Given the description of an element on the screen output the (x, y) to click on. 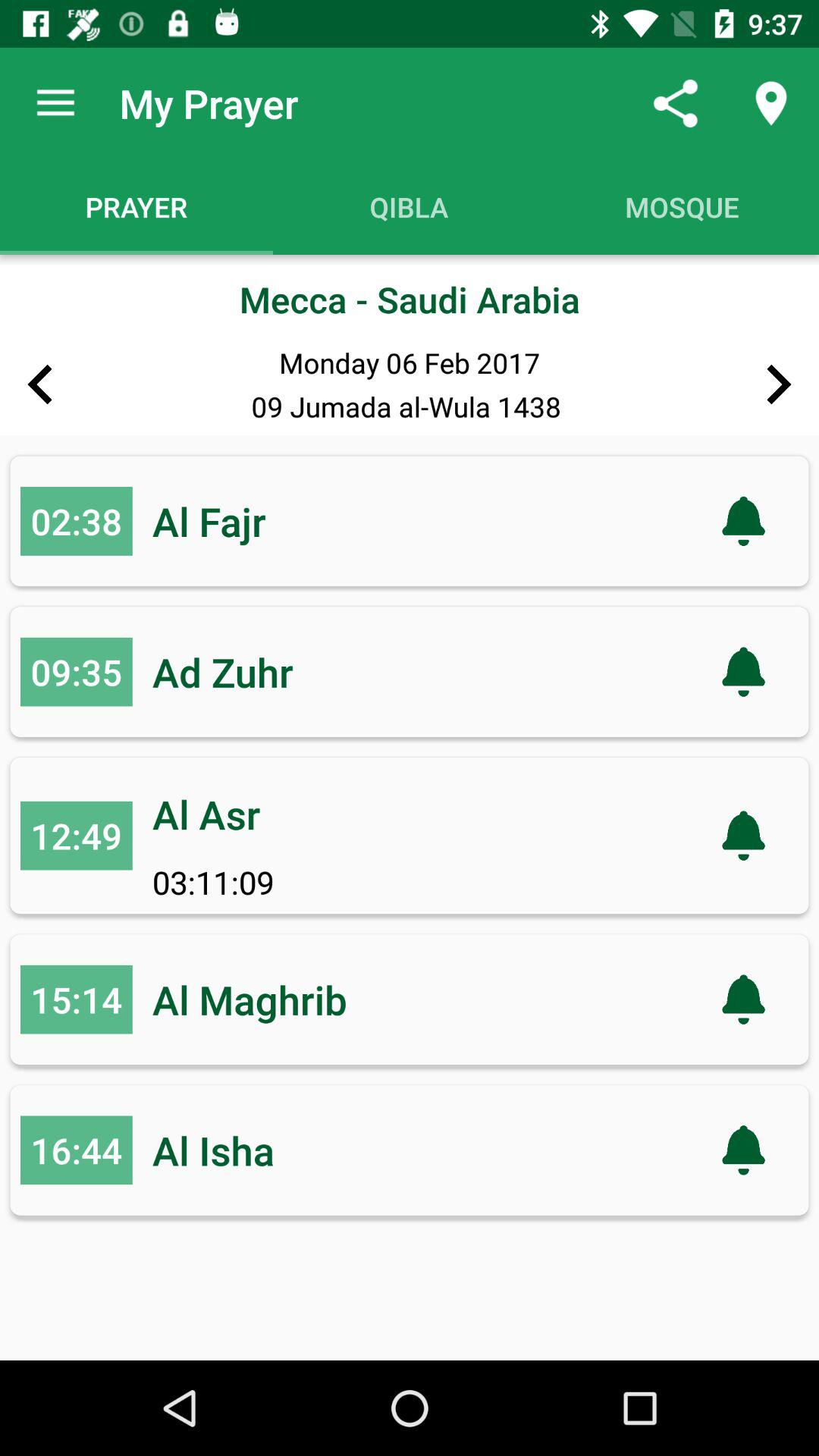
turn off the icon above 15:14 item (76, 835)
